Given the description of an element on the screen output the (x, y) to click on. 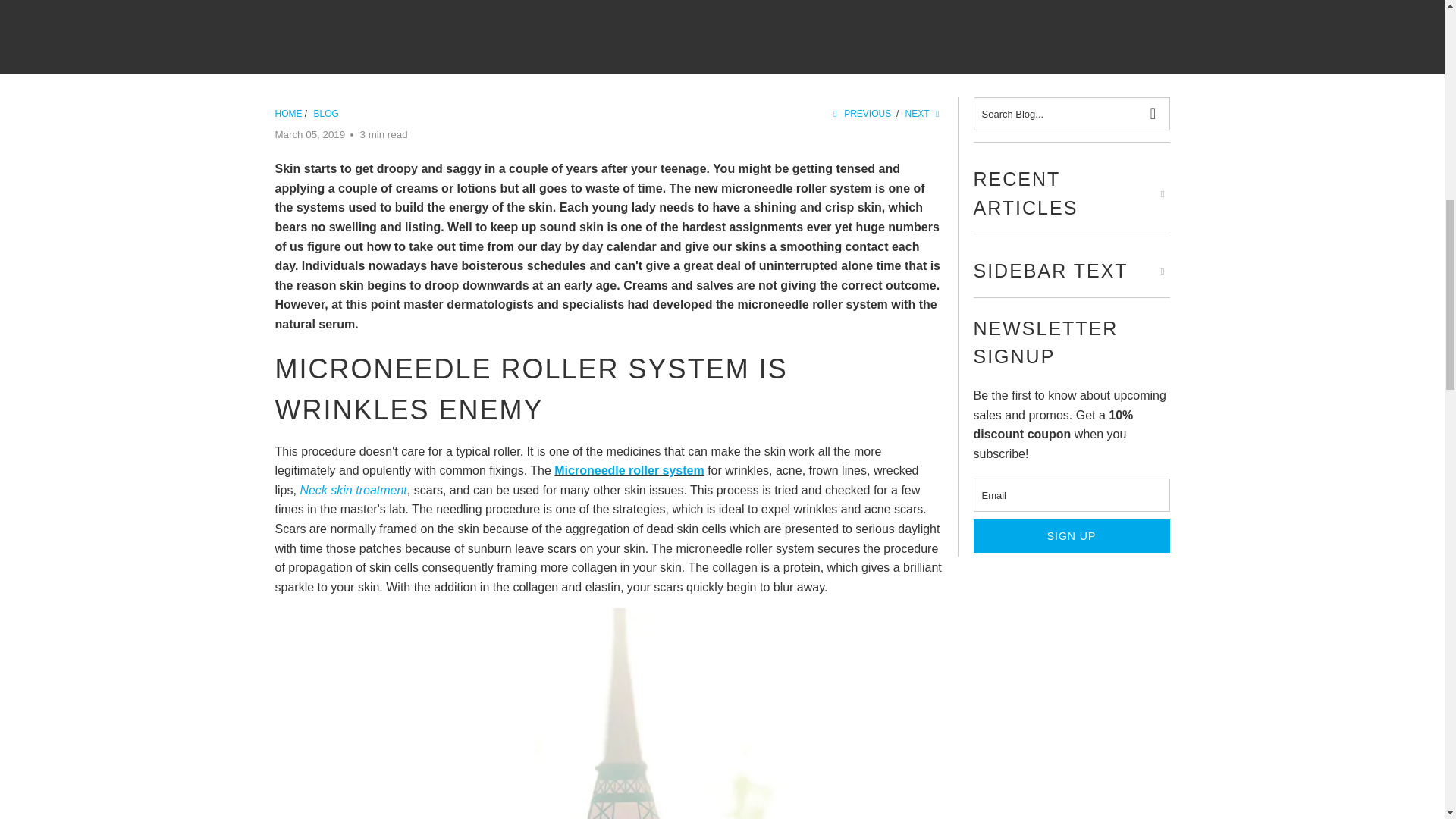
Neck skin treatment (367, 490)
HOME (288, 113)
Microneedle roller system (628, 470)
PREVIOUS (860, 113)
Sign Up (1072, 535)
Blog (326, 113)
Microneedle roller system (628, 470)
MesoLyft  (288, 113)
BLOG (326, 113)
Neck (312, 490)
NEXT (923, 113)
skin treatment (367, 490)
Neck skin treatment (312, 490)
